Given the description of an element on the screen output the (x, y) to click on. 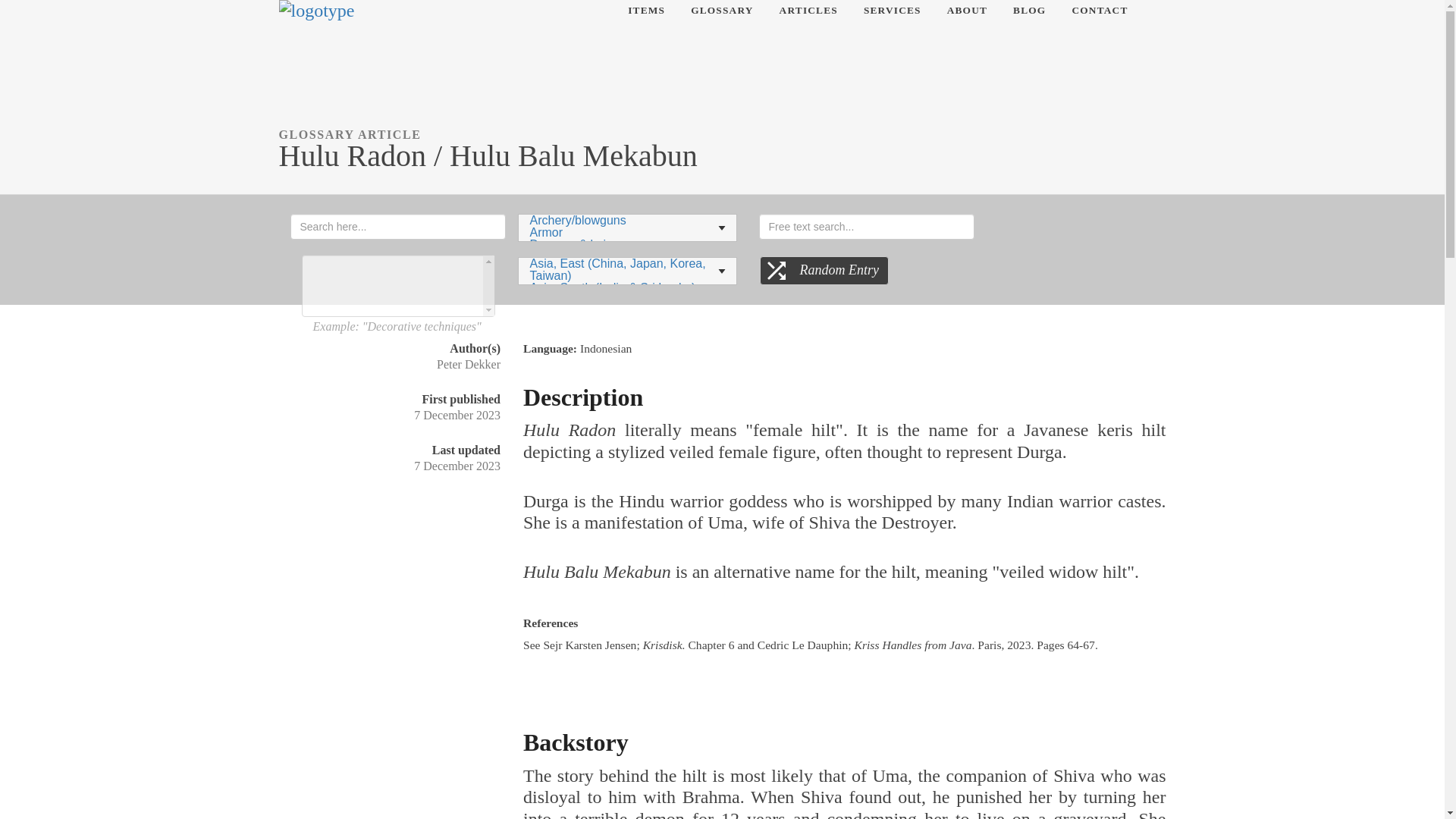
CONTACT (1098, 10)
Apply (312, 245)
Search (29, 12)
ABOUT (967, 10)
BLOG (1029, 10)
Random Entry (824, 270)
ITEMS (646, 10)
SERVICES (892, 10)
ARTICLES (808, 10)
